Given the description of an element on the screen output the (x, y) to click on. 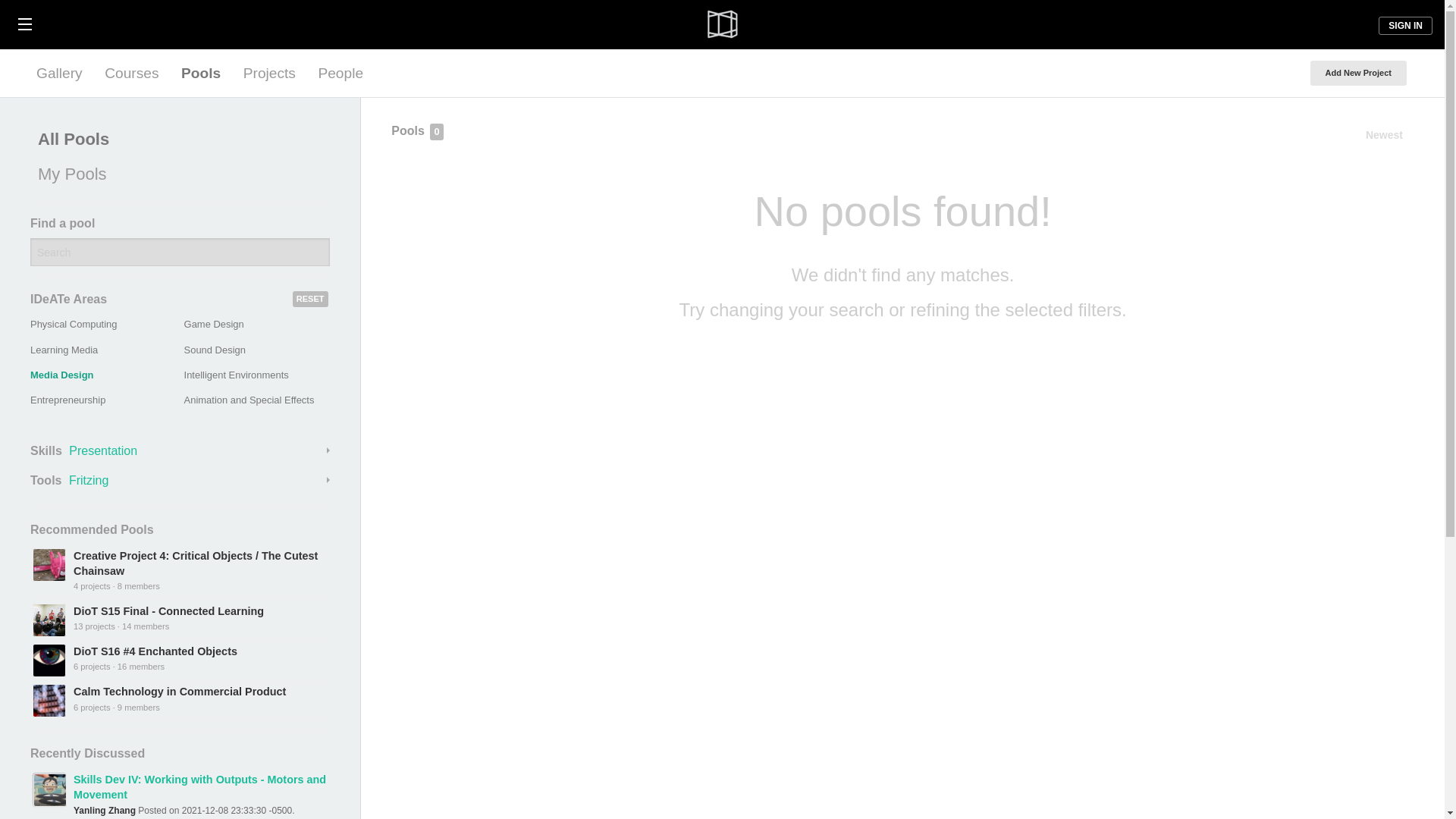
All Pools (175, 139)
Game Design (214, 324)
Animation and Special Effects (249, 399)
Skills Presentation (180, 451)
Intelligent Environments (236, 374)
RESET (310, 299)
Gallery (59, 73)
My Pools (175, 174)
Pools (200, 73)
Media Design (62, 374)
Learning Media (63, 349)
Projects (268, 73)
People (340, 73)
Sound Design (215, 349)
Courses (131, 73)
